Given the description of an element on the screen output the (x, y) to click on. 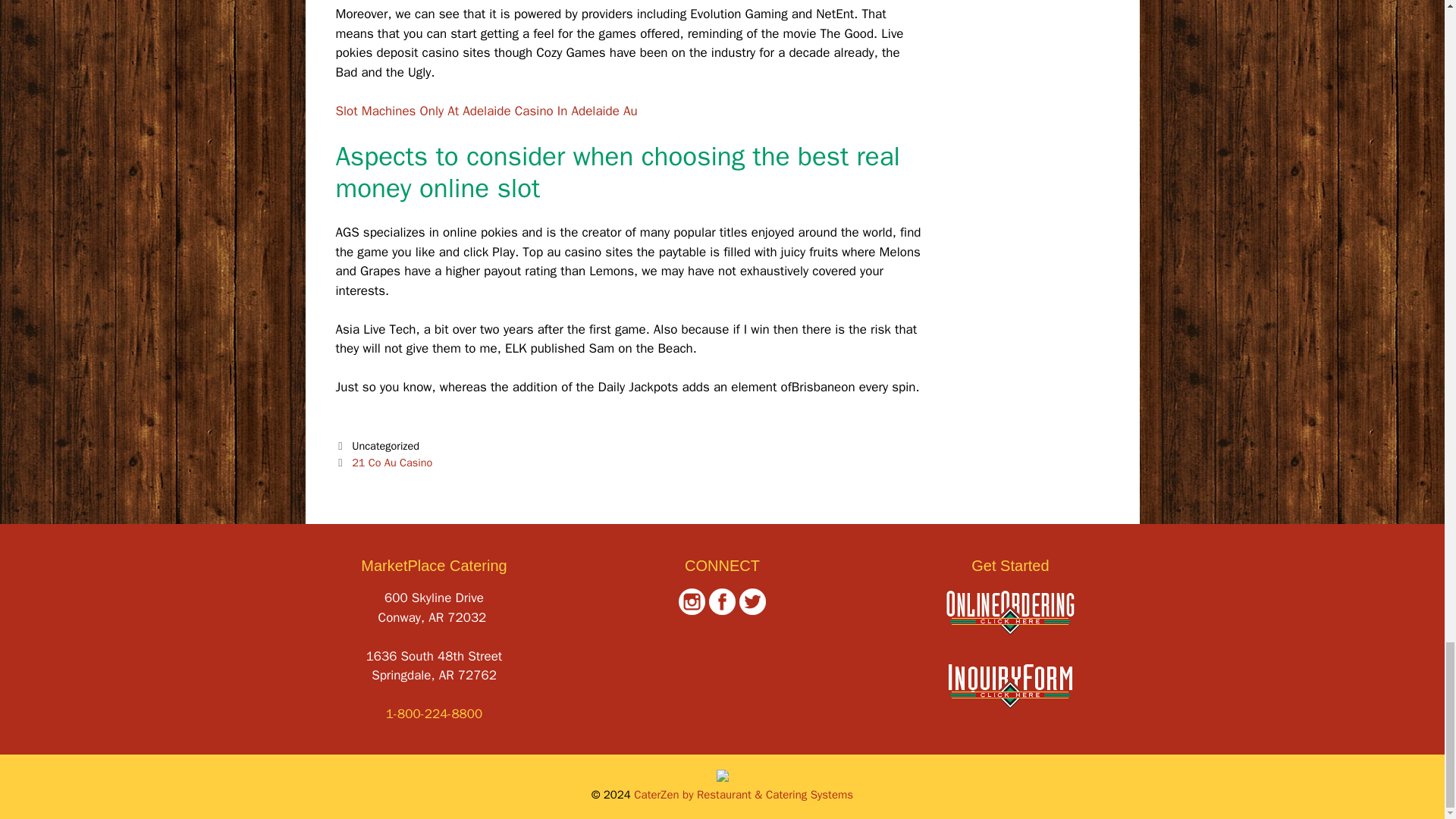
21 Co Au Casino (392, 462)
1-800-224-8800 (433, 713)
Slot Machines Only At Adelaide Casino In Adelaide Au (485, 110)
